Given the description of an element on the screen output the (x, y) to click on. 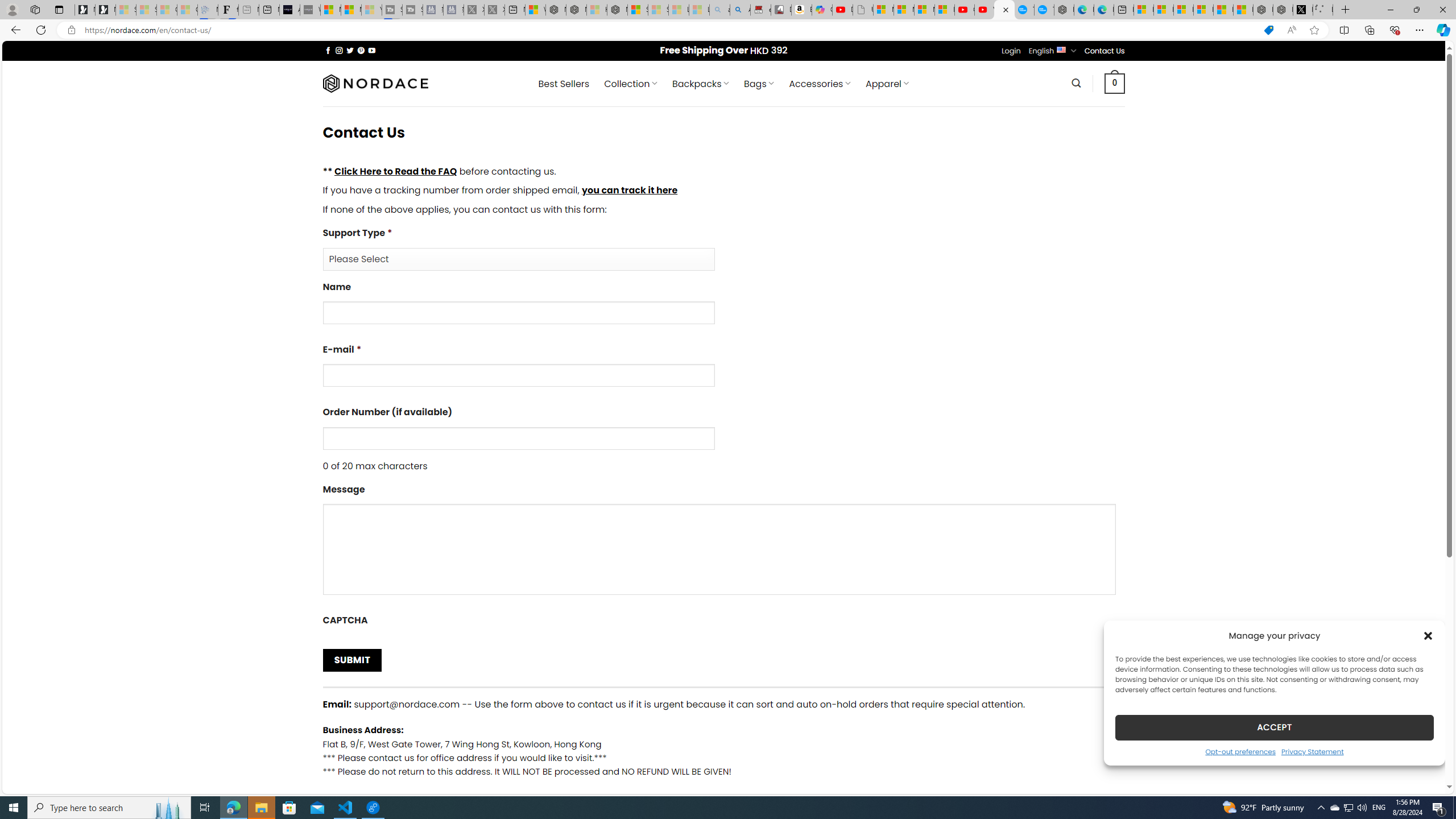
 0  (1115, 83)
  Best Sellers (563, 83)
E-mail* (517, 375)
Amazon Echo Dot PNG - Search Images (740, 9)
